Given the description of an element on the screen output the (x, y) to click on. 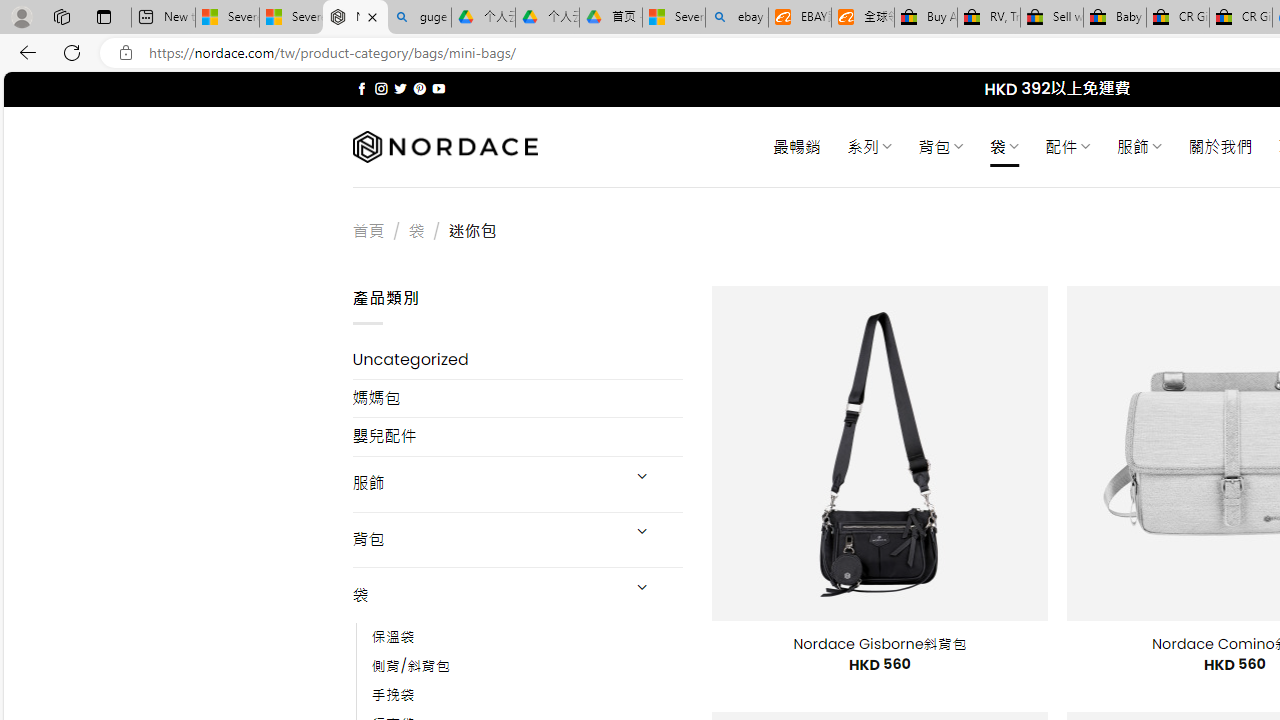
Uncategorized (517, 359)
